Given the description of an element on the screen output the (x, y) to click on. 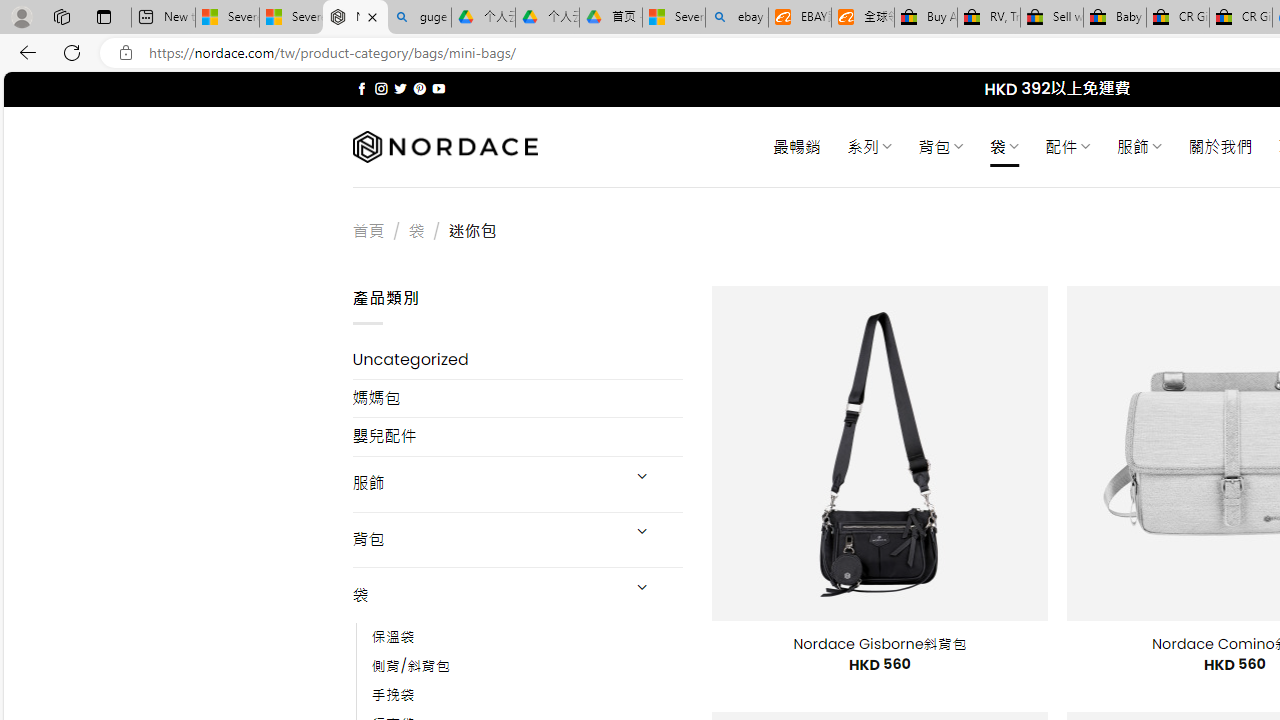
Uncategorized (517, 359)
